Given the description of an element on the screen output the (x, y) to click on. 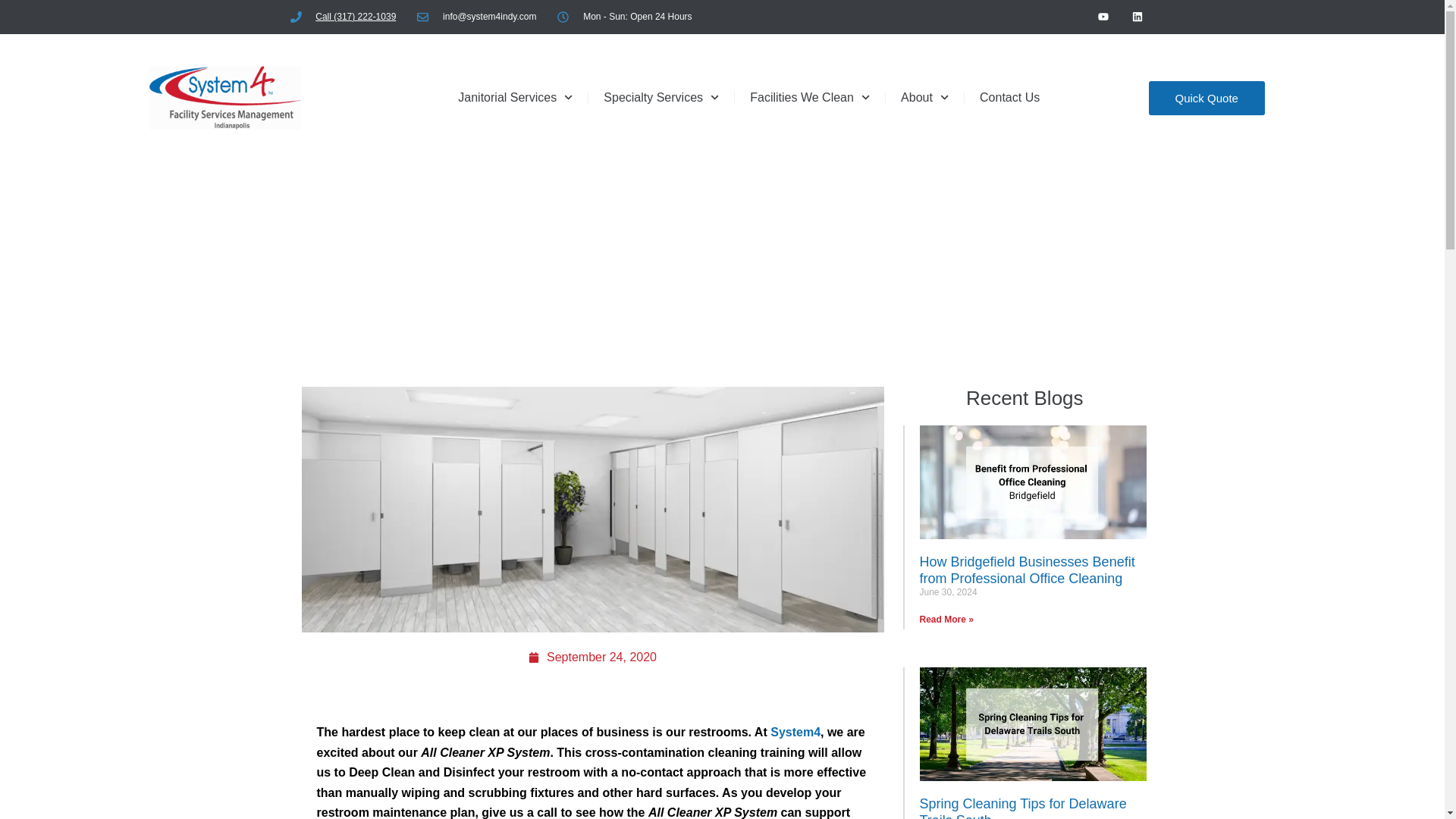
Linkedin (1137, 17)
Facilities We Clean (810, 97)
Specialty Services (660, 97)
Janitorial Services (515, 97)
Youtube (1103, 17)
About (924, 97)
Contact Us (1008, 97)
